Given the description of an element on the screen output the (x, y) to click on. 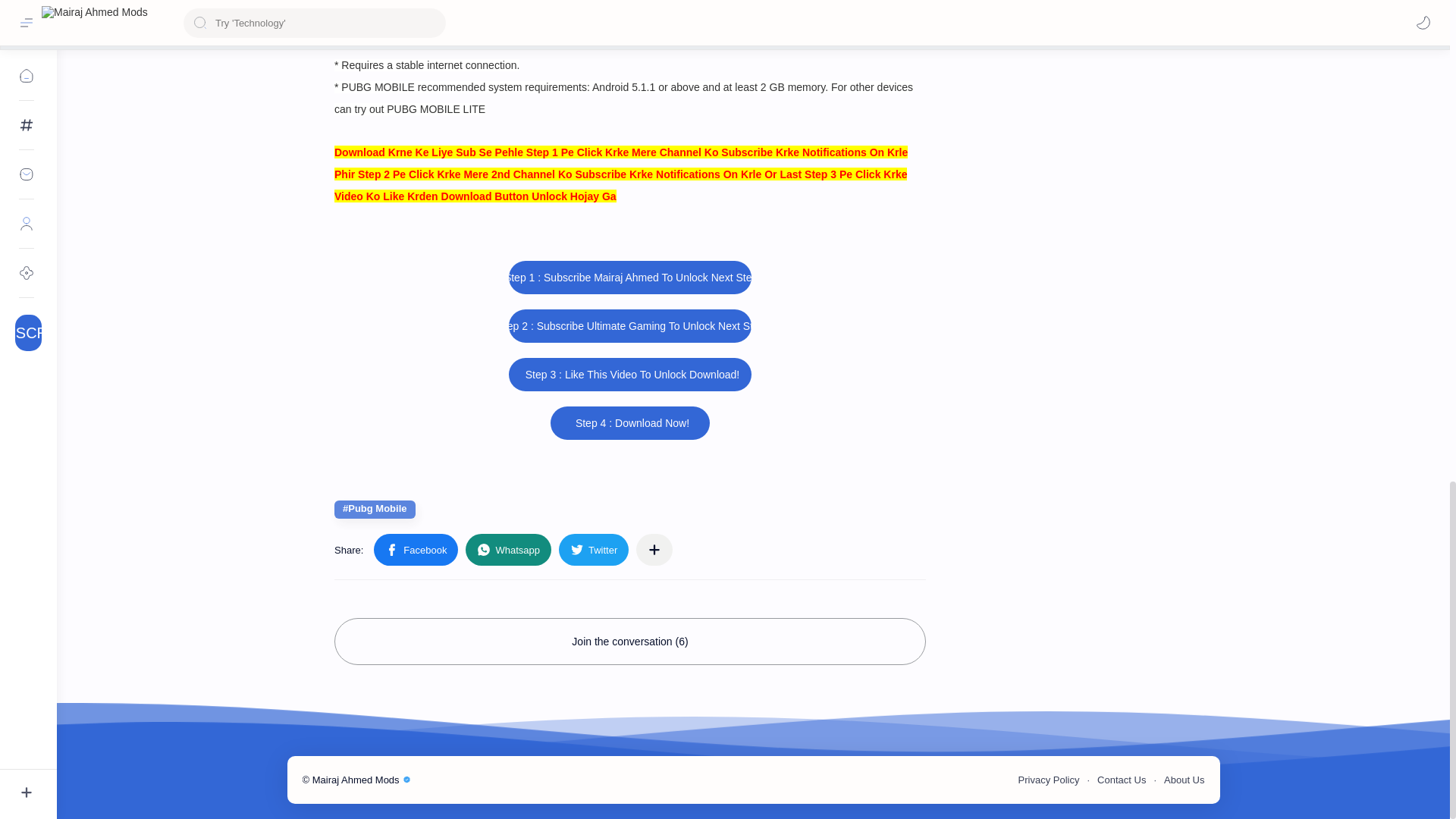
Step 1 : Subscribe Mairaj Ahmed To Unlock Next Step! (629, 277)
Step 2 : Subscribe Ultimate Gaming To Unlock Next Step! (629, 326)
Step 3 : Like This Video To Unlock Download! (629, 374)
Step 4 : Download Now! (630, 422)
